Given the description of an element on the screen output the (x, y) to click on. 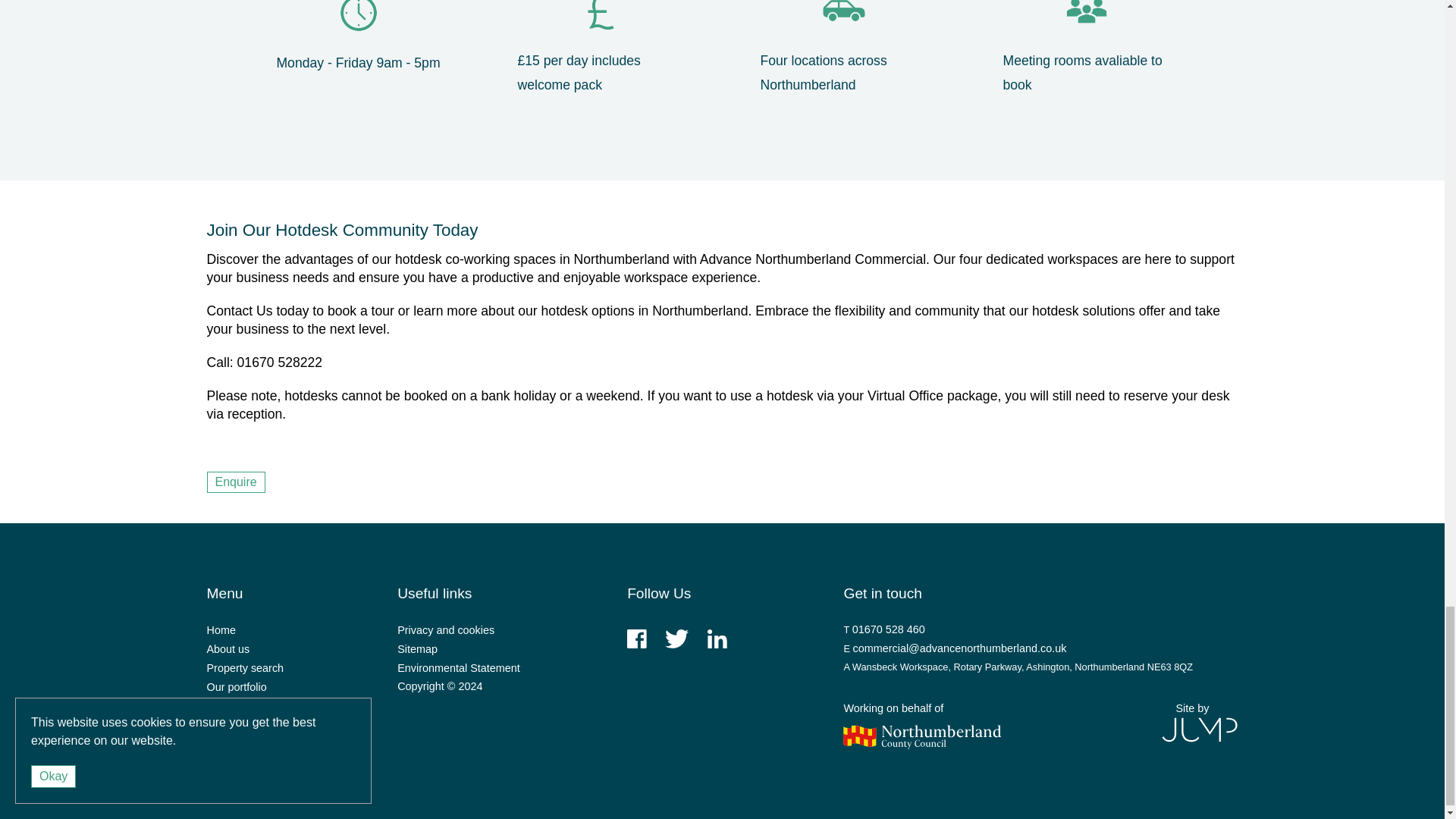
Property search (244, 667)
LinkedIn (716, 644)
JUMP (1192, 730)
Case studies (237, 725)
Twitter (676, 644)
Enquire (235, 482)
Home (220, 630)
Privacy and cookies (446, 630)
Workspace (233, 705)
Sitemap (417, 648)
